Given the description of an element on the screen output the (x, y) to click on. 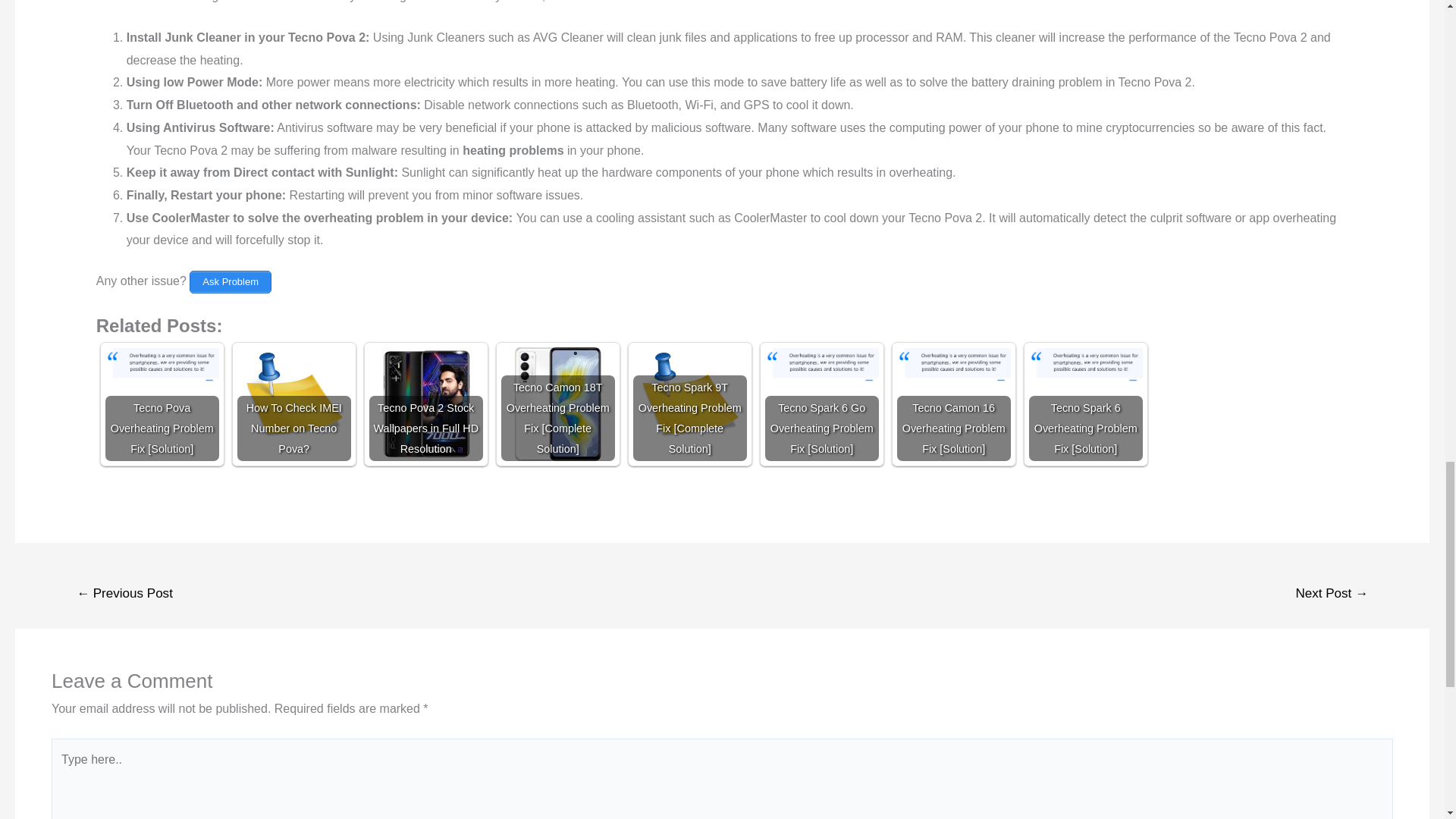
Tecno Pova 2 Stock Wallpapers in Full HD Resolution (426, 404)
How To Check IMEI Number on Tecno Pova? (293, 404)
